Given the description of an element on the screen output the (x, y) to click on. 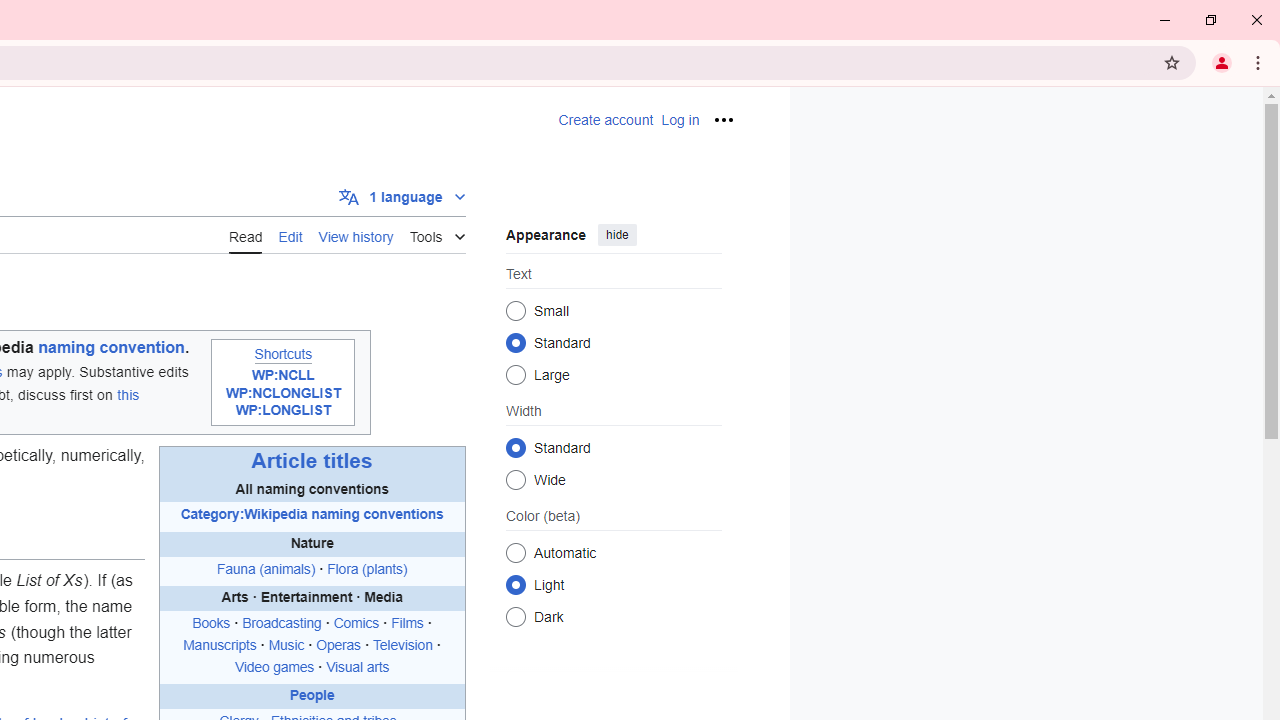
Personal tools (722, 119)
Films (406, 624)
Dark (515, 616)
naming convention (111, 348)
AutomationID: pt-createaccount-2 (606, 120)
View history (355, 235)
Automatic (515, 552)
Standard (515, 447)
Music (285, 645)
Television (402, 645)
Article titles (311, 461)
